Given the description of an element on the screen output the (x, y) to click on. 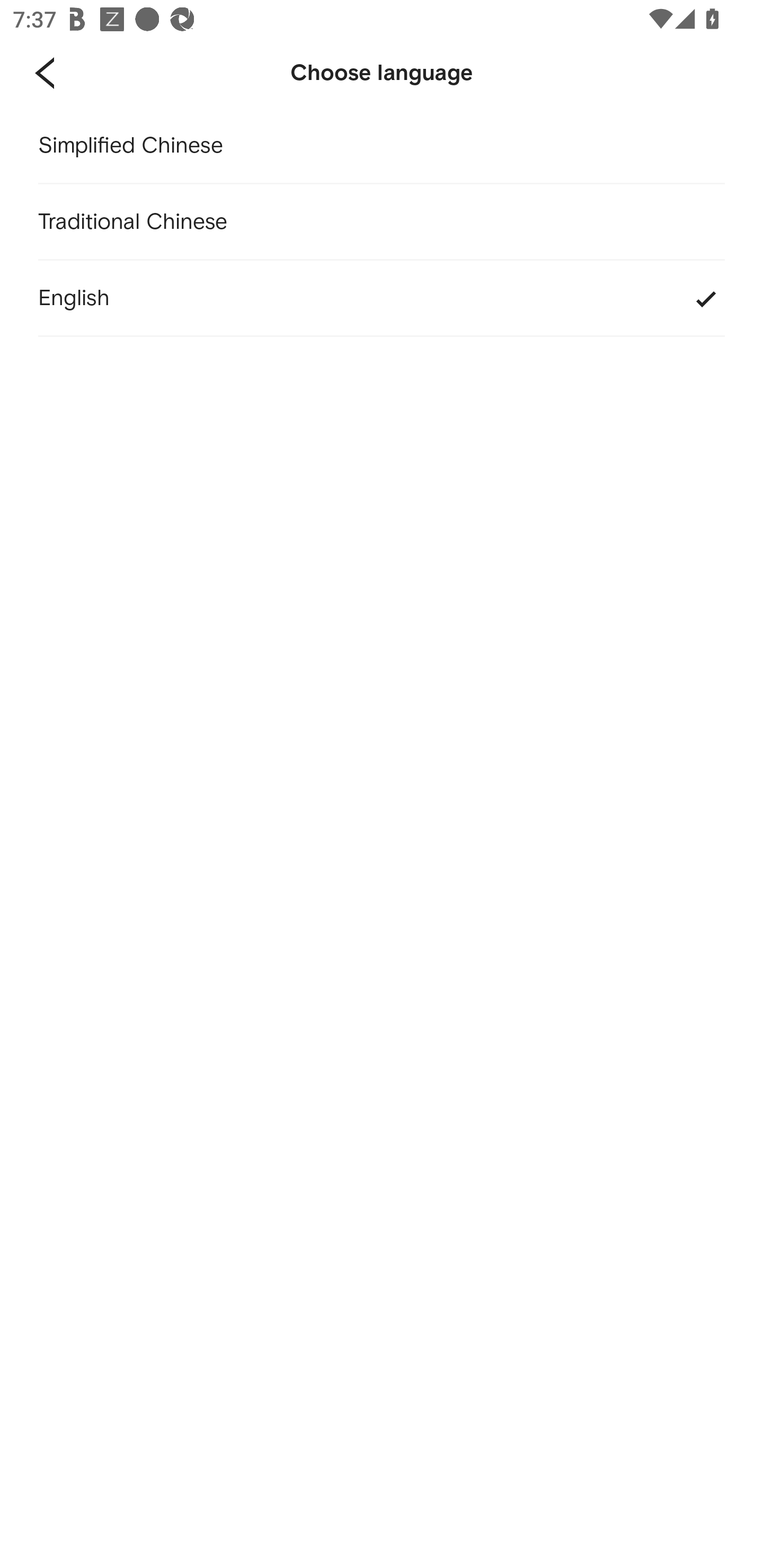
Simplified Chinese (381, 146)
Traditional Chinese (381, 222)
English (381, 298)
